Given the description of an element on the screen output the (x, y) to click on. 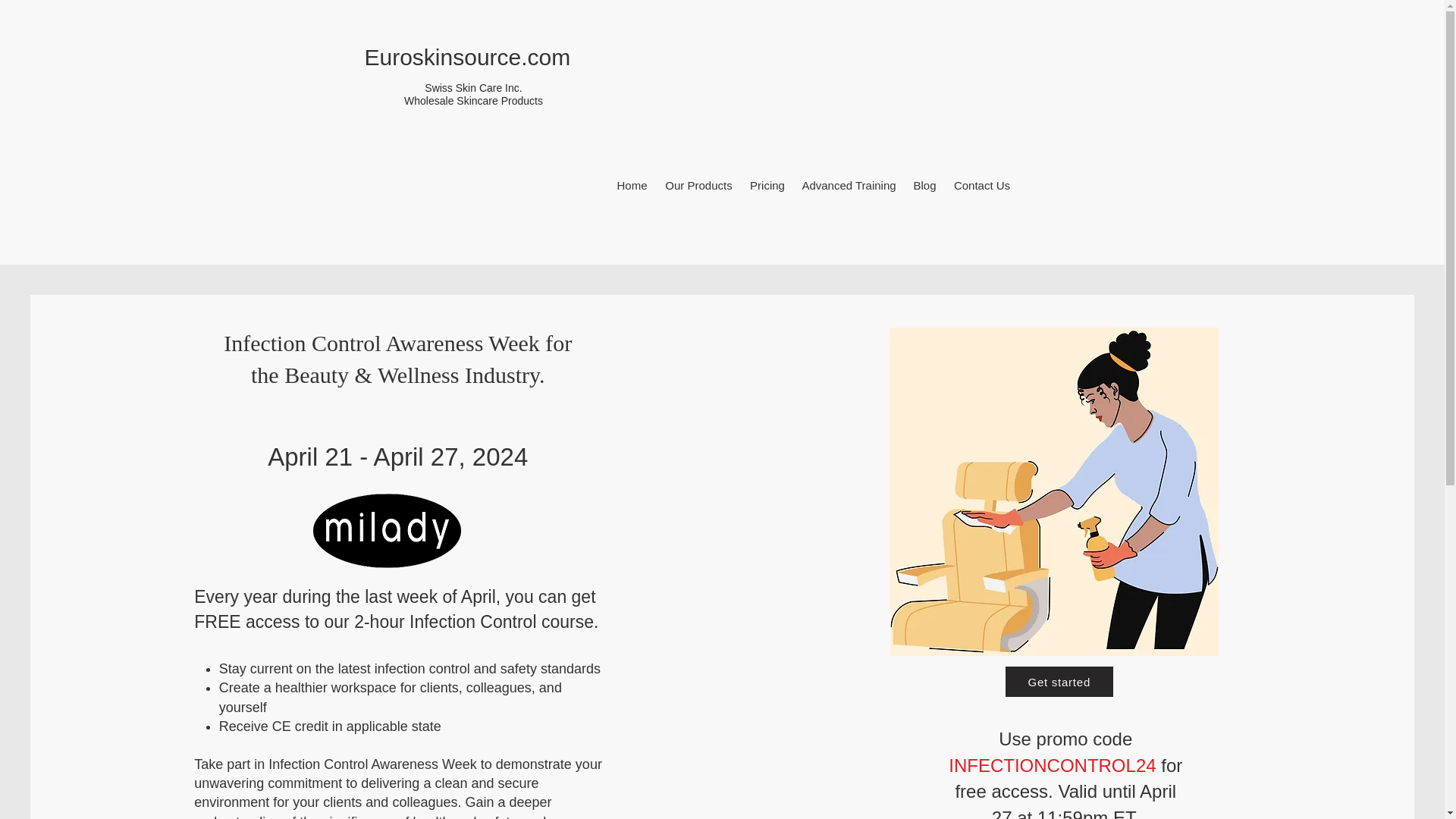
Contact Us (980, 185)
Advanced Training (848, 185)
Euroskinsource.com (467, 57)
Our Products (698, 185)
Get started (1059, 681)
Infection Control Awareness Week (371, 764)
Blog (924, 185)
Pricing (767, 185)
Home (632, 185)
